Given the description of an element on the screen output the (x, y) to click on. 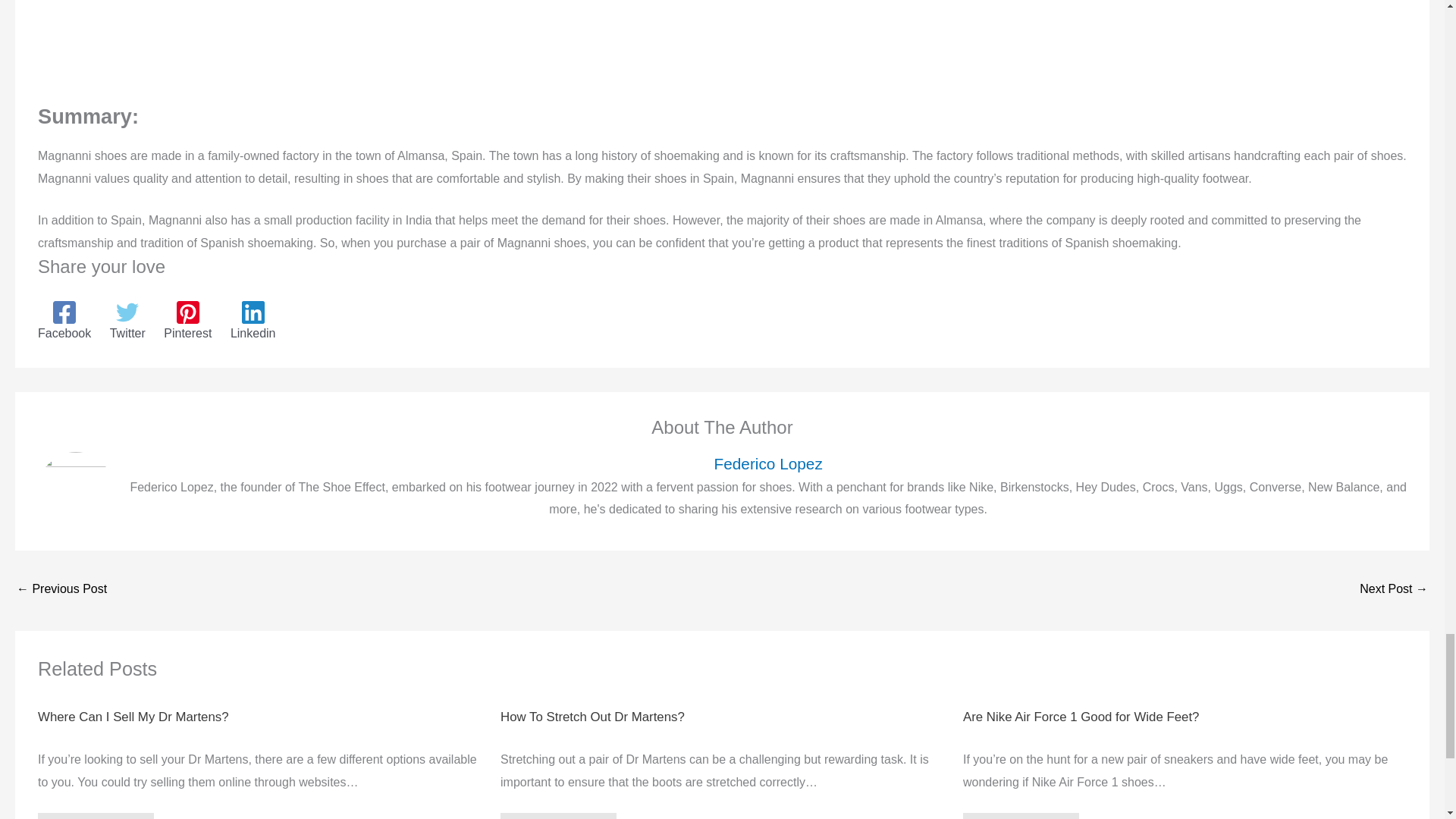
Affordable Elegance: Finding Deals On Balmain Sandals (61, 590)
Where Can I Sell My Dr Martens? (132, 716)
Casual Urban Charm: Magnanni Mens Casual Boots (1393, 590)
Magnanni Shoes Factory in Almansa Spain (250, 38)
Linkedin (253, 320)
Federico Lopez (767, 463)
Are Nike Air Force 1 Good for Wide Feet? (1080, 716)
Facebook (63, 320)
Pinterest (187, 320)
Twitter (127, 320)
